Given the description of an element on the screen output the (x, y) to click on. 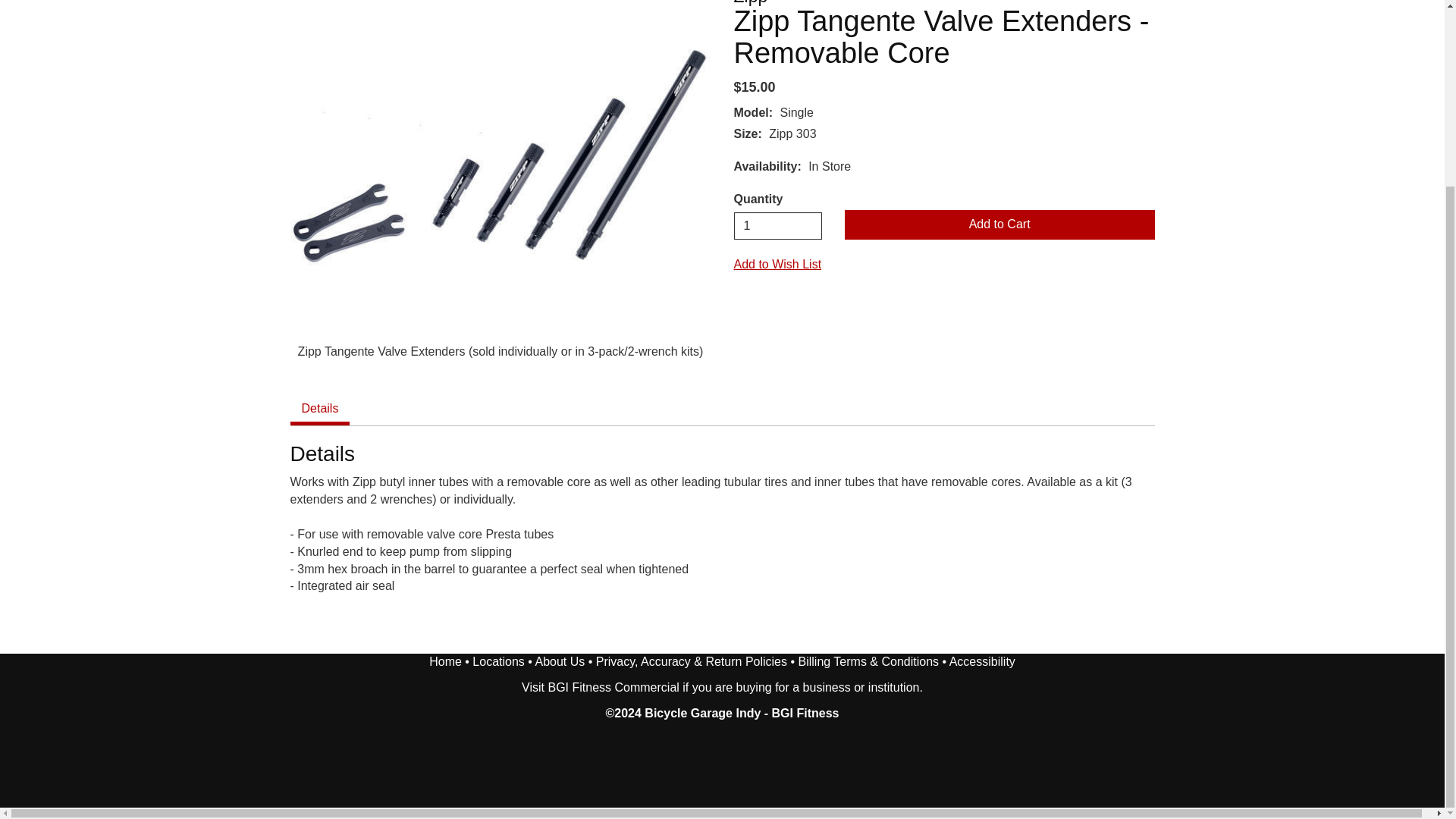
Contact BGI (497, 661)
BGI Policies (691, 661)
1 (777, 225)
Zipp Zipp Tangente Valve Extenders - Removable Core  (499, 157)
